Given the description of an element on the screen output the (x, y) to click on. 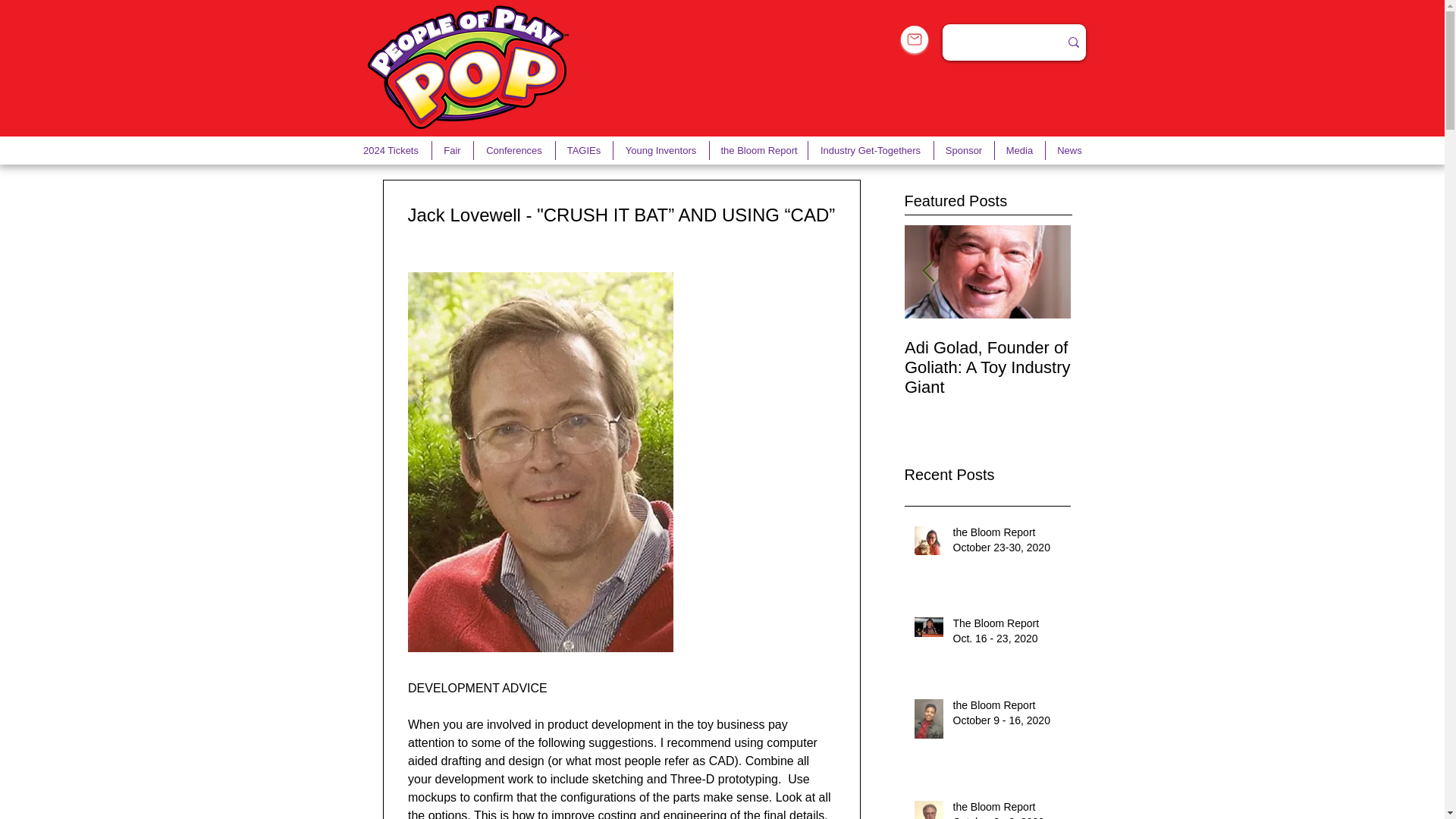
2024 Tickets (390, 149)
Fair (452, 149)
ChiTagWeek.png (467, 67)
Young Inventors (659, 149)
Conferences (513, 149)
